Given the description of an element on the screen output the (x, y) to click on. 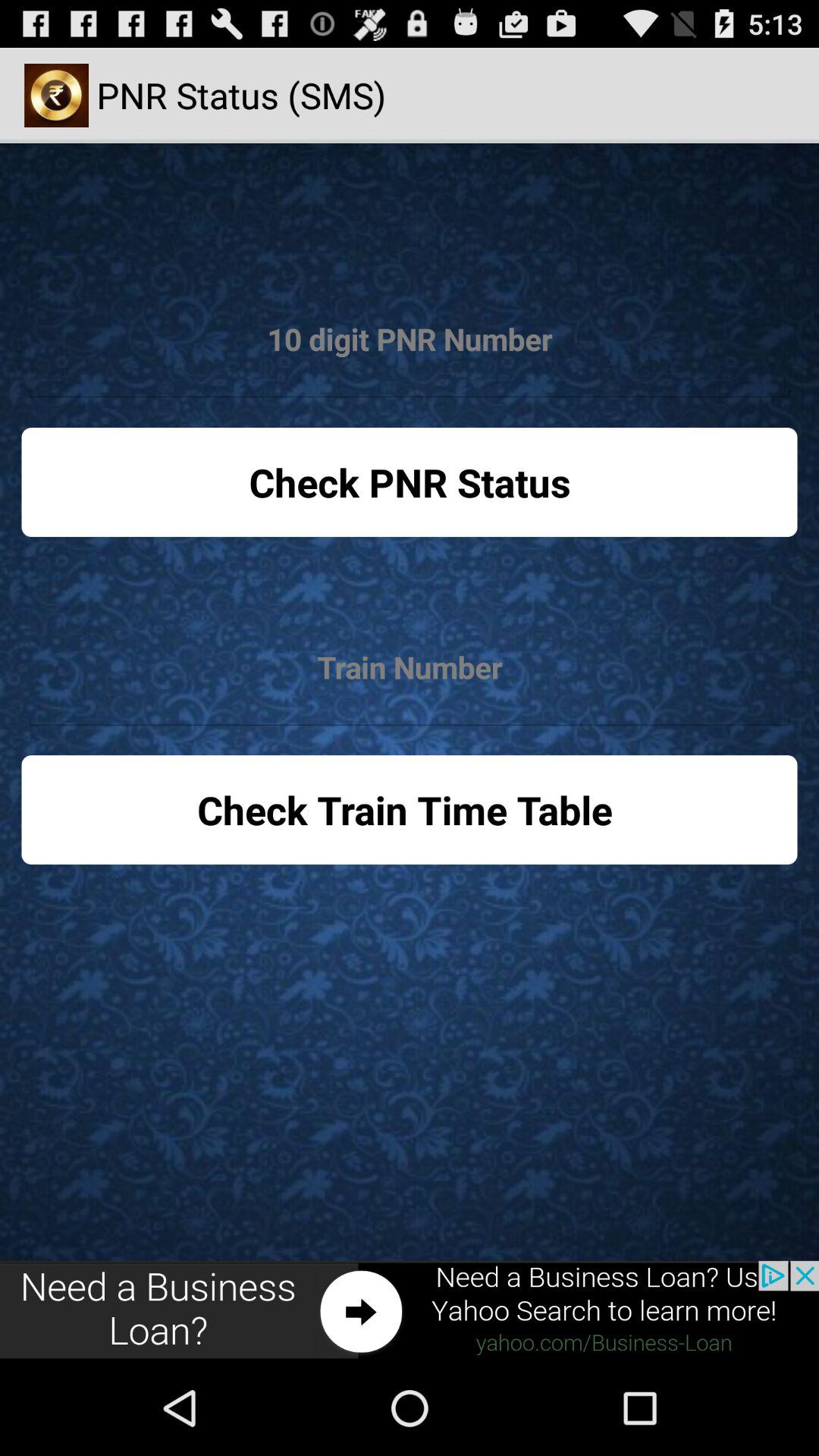
pin number (409, 339)
